Given the description of an element on the screen output the (x, y) to click on. 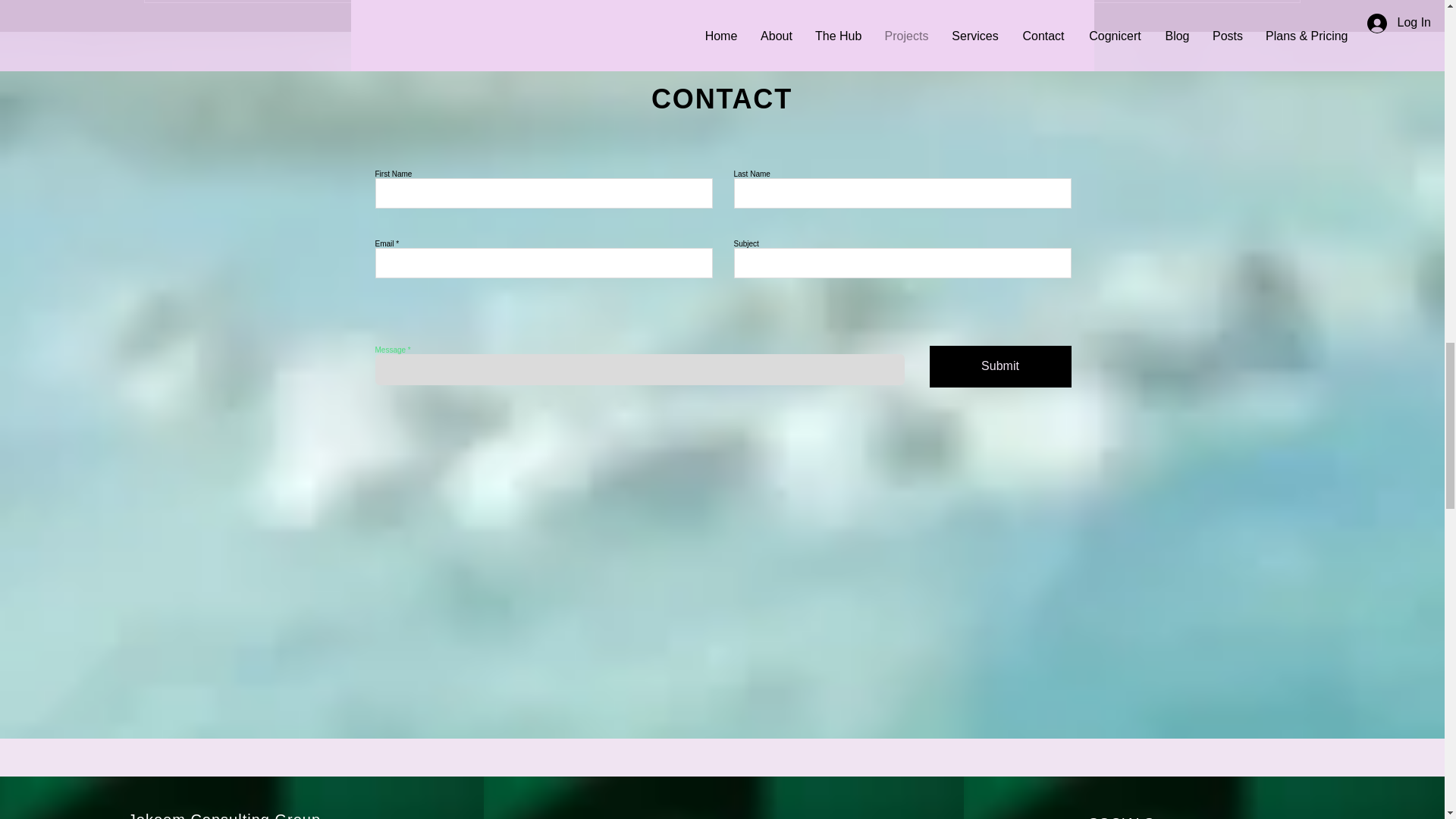
Do Not Sell My Personal Information (687, 51)
Jokoem Consulting Group (224, 815)
Submit (1000, 366)
